Given the description of an element on the screen output the (x, y) to click on. 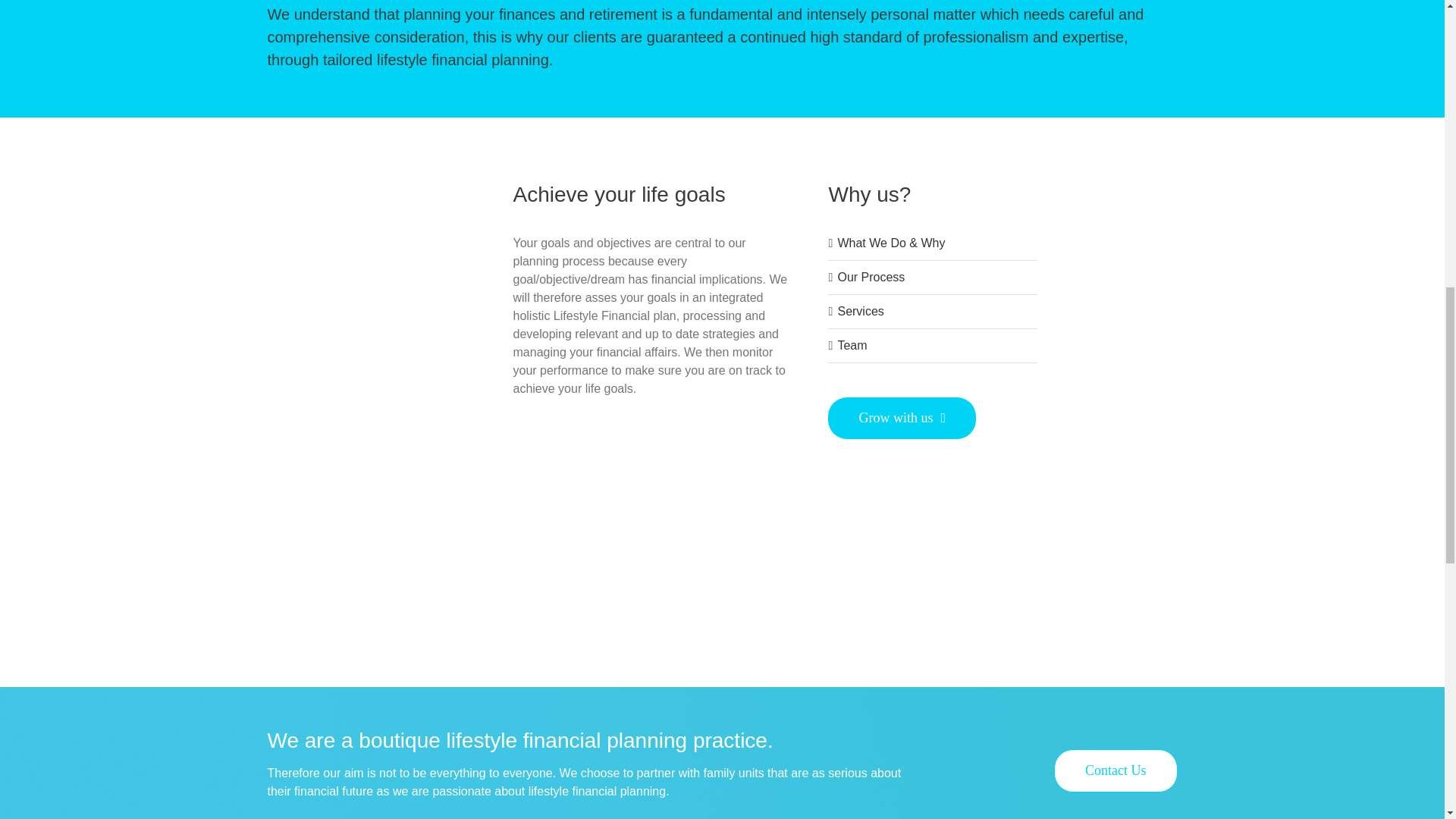
Our Process (870, 277)
Grow with us (901, 417)
Contact Us (1115, 770)
Team (851, 345)
Services (860, 310)
